Given the description of an element on the screen output the (x, y) to click on. 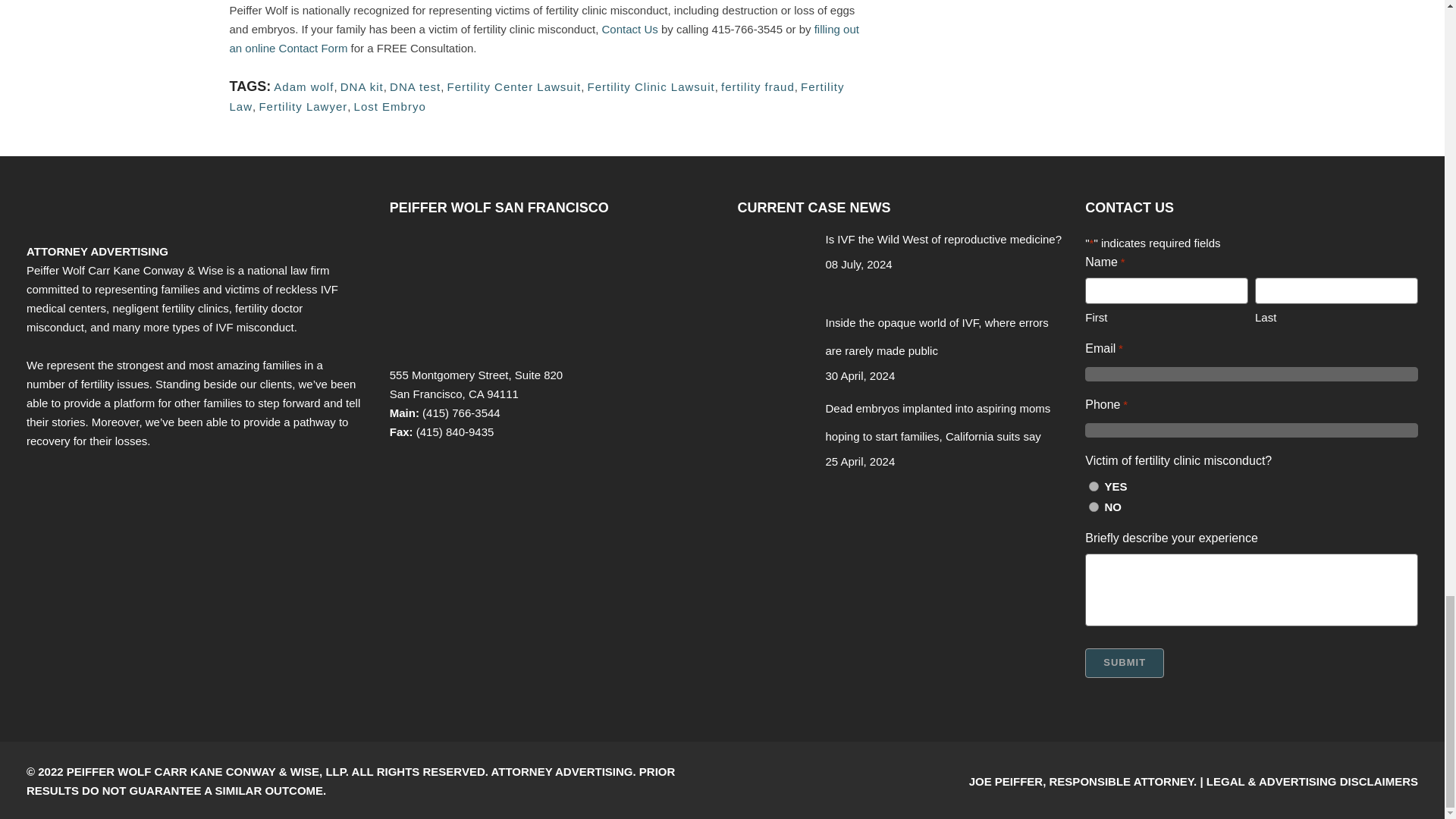
Click to open a larger map (503, 291)
Click to open a larger map (503, 350)
YES (1094, 486)
Submit (1123, 663)
NO (1094, 506)
